Given the description of an element on the screen output the (x, y) to click on. 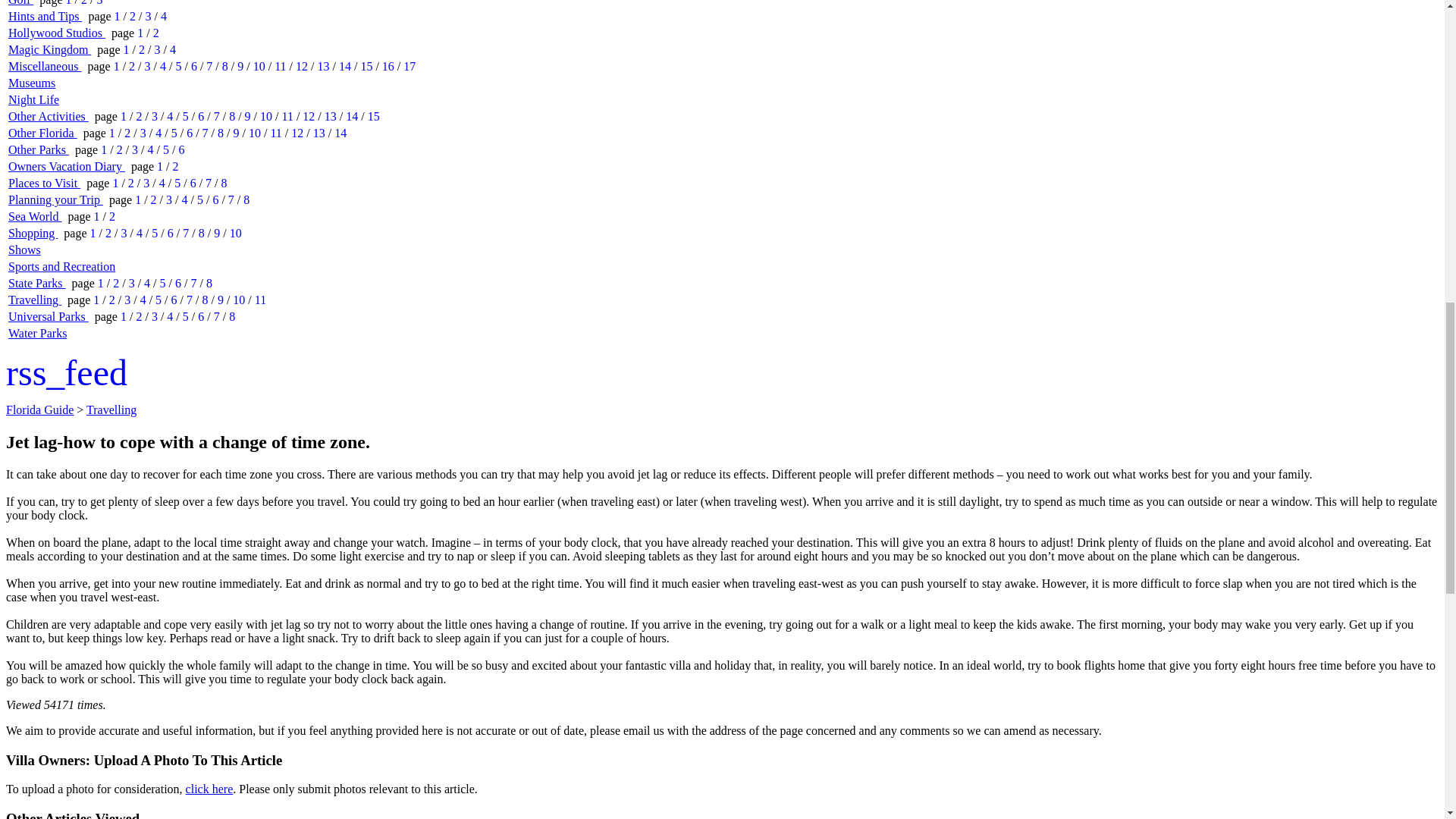
RSS feed (66, 372)
